Given the description of an element on the screen output the (x, y) to click on. 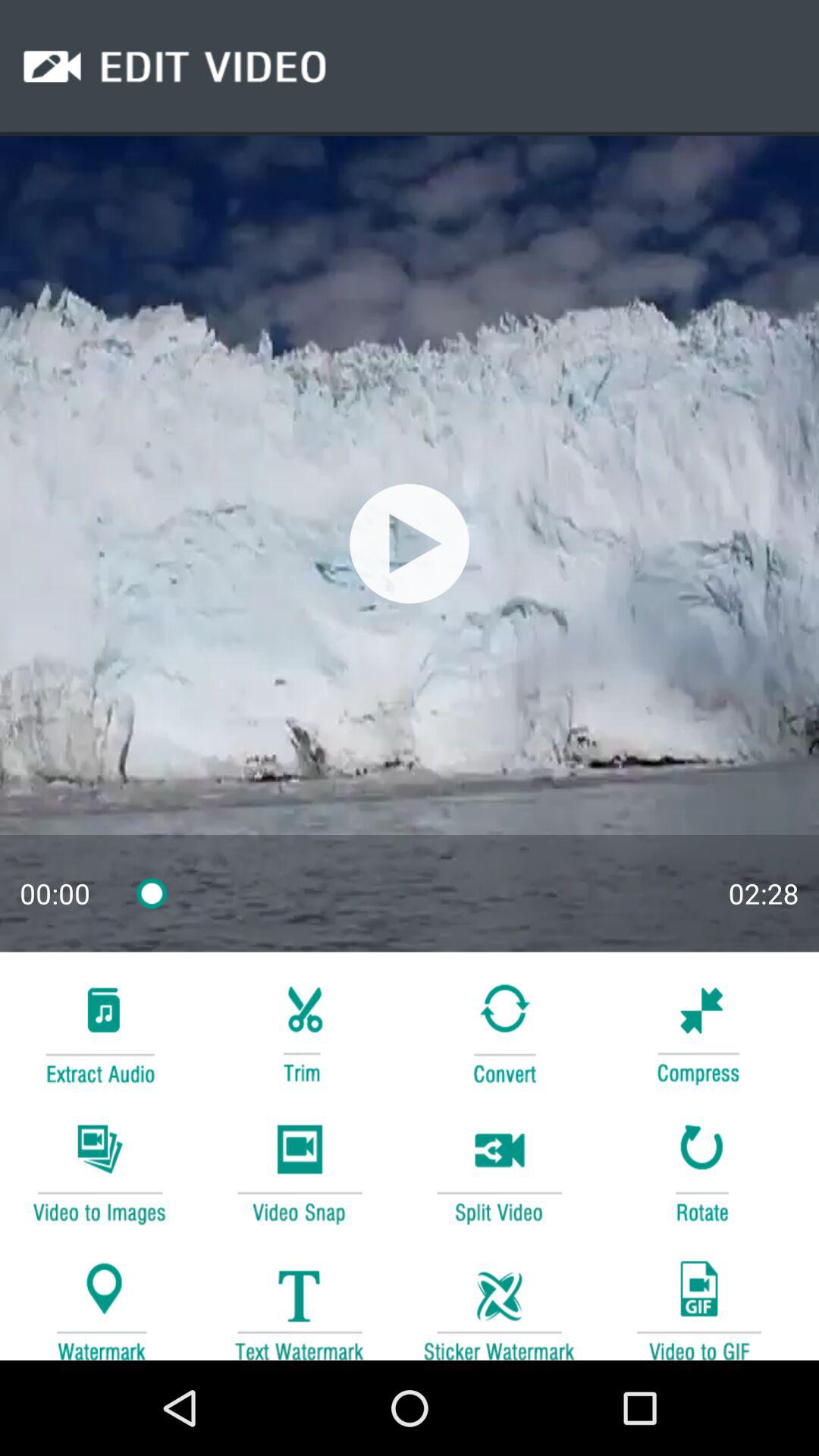
go to music (99, 1032)
